Given the description of an element on the screen output the (x, y) to click on. 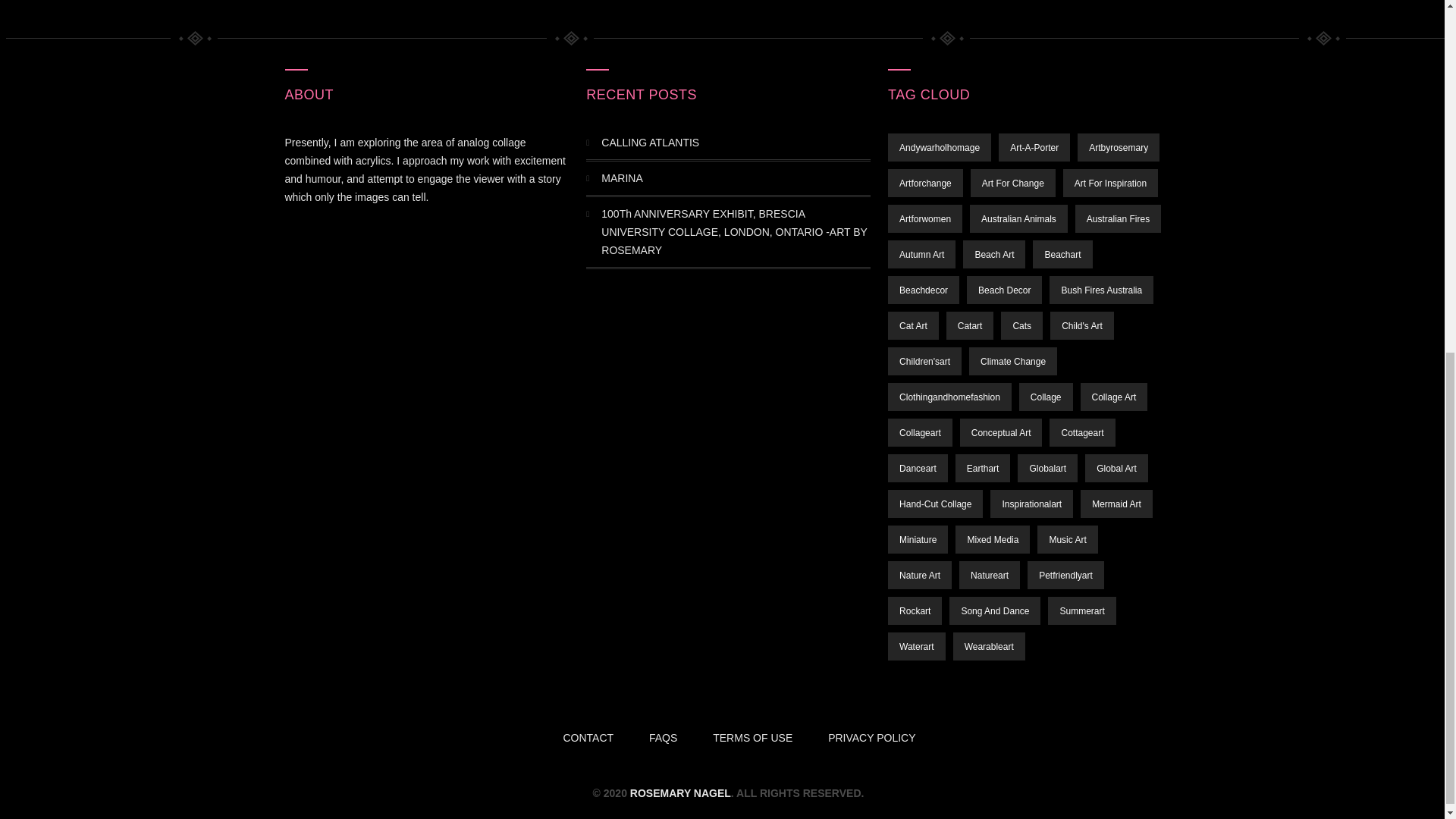
Art-A-Porter (1034, 147)
CALLING ATLANTIS (735, 142)
MARINA (735, 177)
Andywarholhomage (939, 147)
Artbyrosemary (1117, 147)
Art For Change (1013, 182)
Artforchange (925, 182)
